Given the description of an element on the screen output the (x, y) to click on. 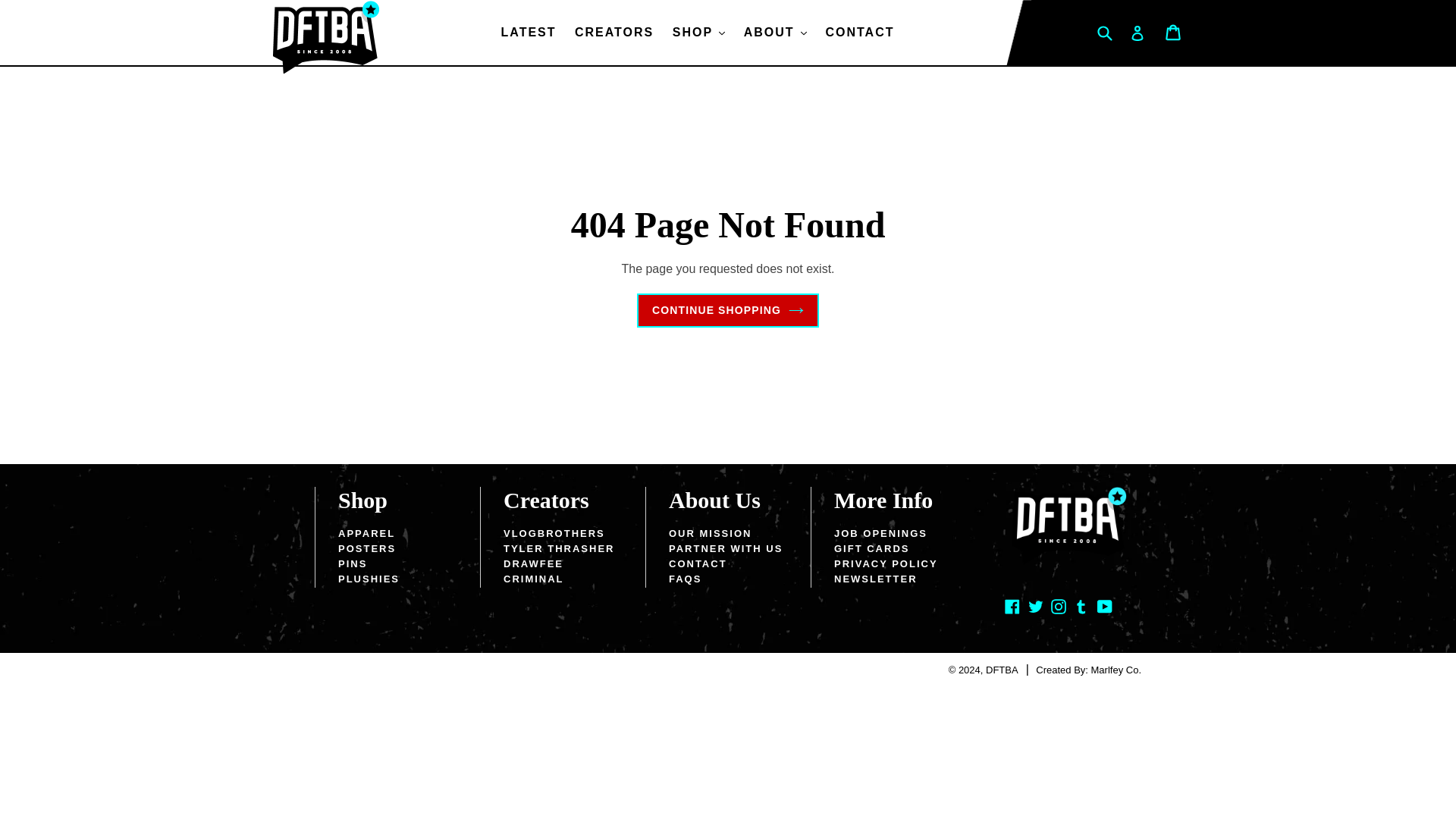
CREATORS (614, 32)
DFTBA on Facebook (1012, 606)
LATEST (528, 32)
DFTBA on Tumblr (1080, 606)
DFTBA on Twitter (1035, 606)
DFTBA on Instagram (1058, 606)
DFTBA on YouTube (1104, 606)
